Given the description of an element on the screen output the (x, y) to click on. 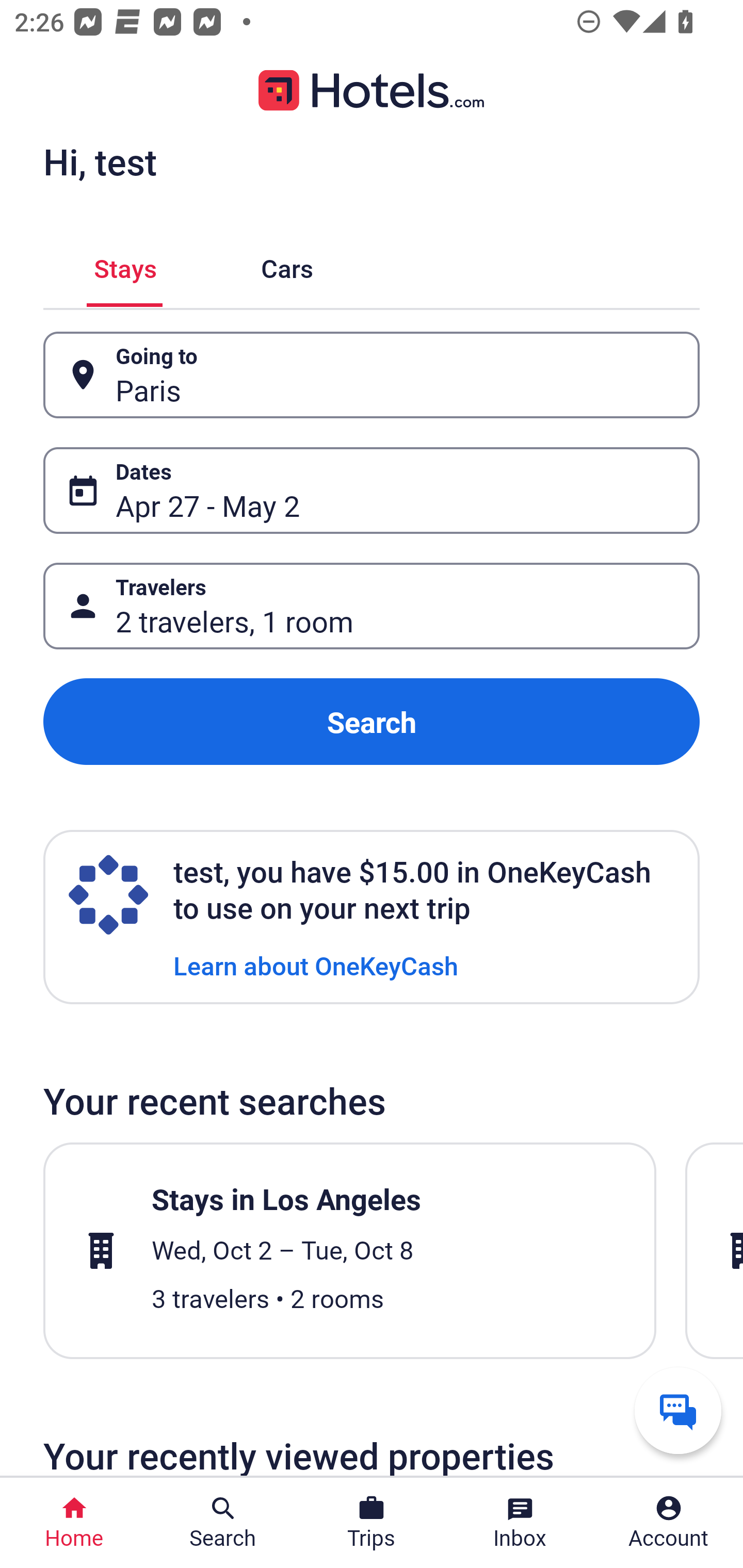
Hi, test (99, 161)
Cars (286, 265)
Going to Button Paris (371, 375)
Dates Button Apr 27 - May 2 (371, 489)
Travelers Button 2 travelers, 1 room (371, 605)
Search (371, 721)
Learn about OneKeyCash Learn about OneKeyCash Link (315, 964)
Get help from a virtual agent (677, 1410)
Search Search Button (222, 1522)
Trips Trips Button (371, 1522)
Inbox Inbox Button (519, 1522)
Account Profile. Button (668, 1522)
